Given the description of an element on the screen output the (x, y) to click on. 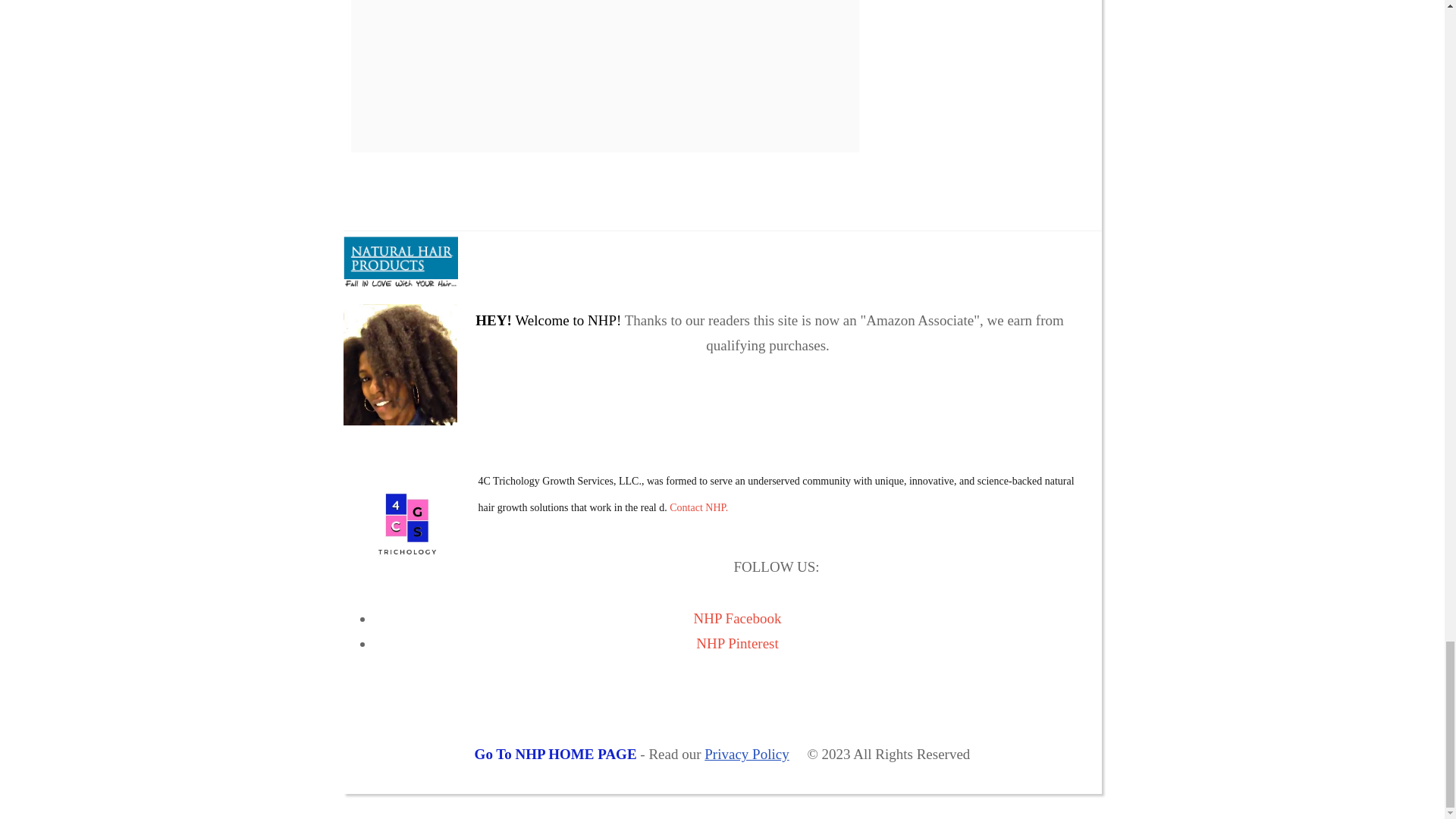
Contact NHP. (698, 507)
NHP Facebook (737, 618)
NHP Pinterest (736, 643)
Go To NHP HOME PAGE (555, 754)
Privacy Policy (746, 754)
